Given the description of an element on the screen output the (x, y) to click on. 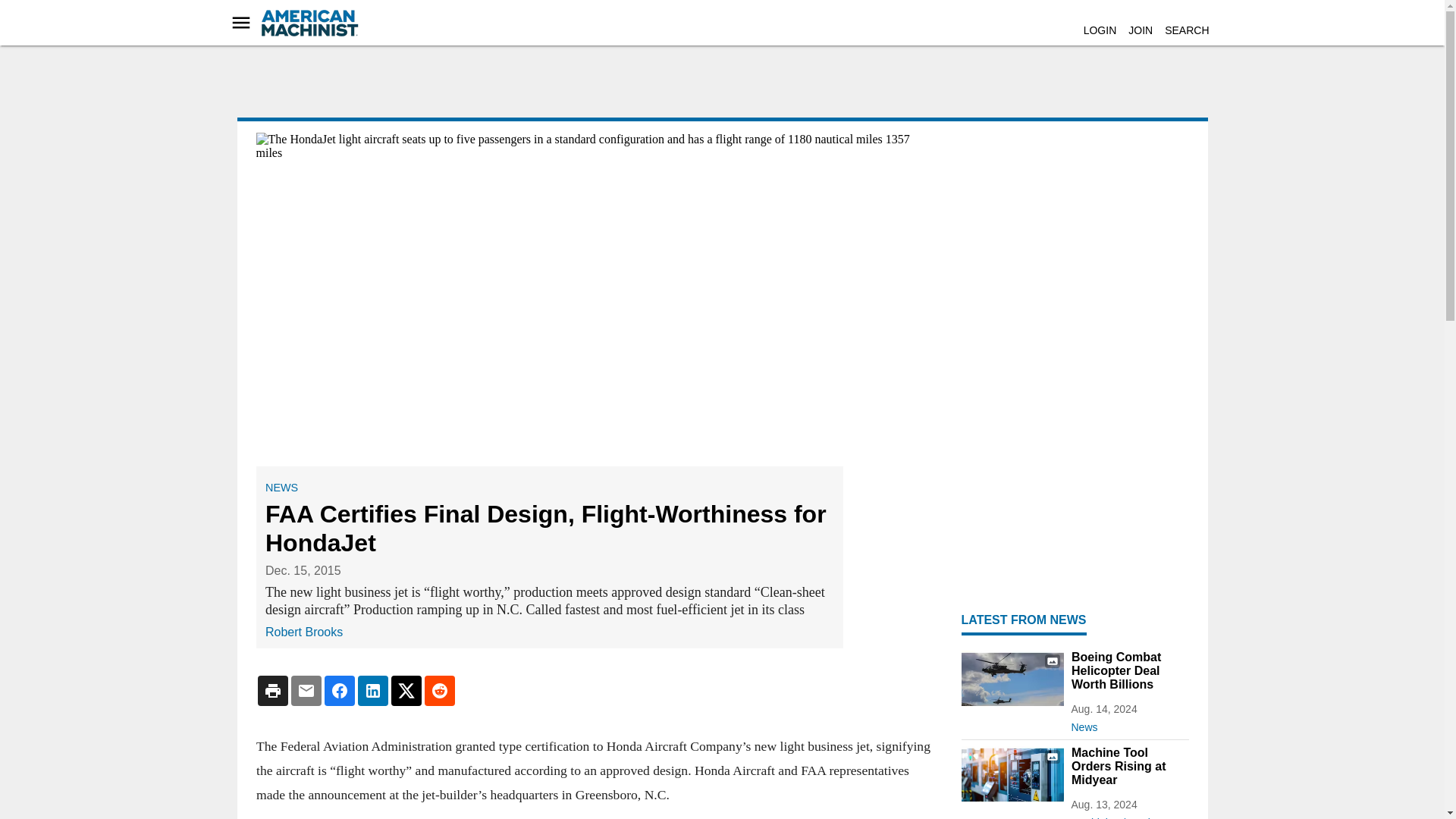
Boeing AH-64E Apache combat helicopters. (1012, 678)
LOGIN (1099, 30)
SEARCH (1186, 30)
NEWS (281, 487)
JOIN (1140, 30)
Robert Brooks (303, 631)
